Given the description of an element on the screen output the (x, y) to click on. 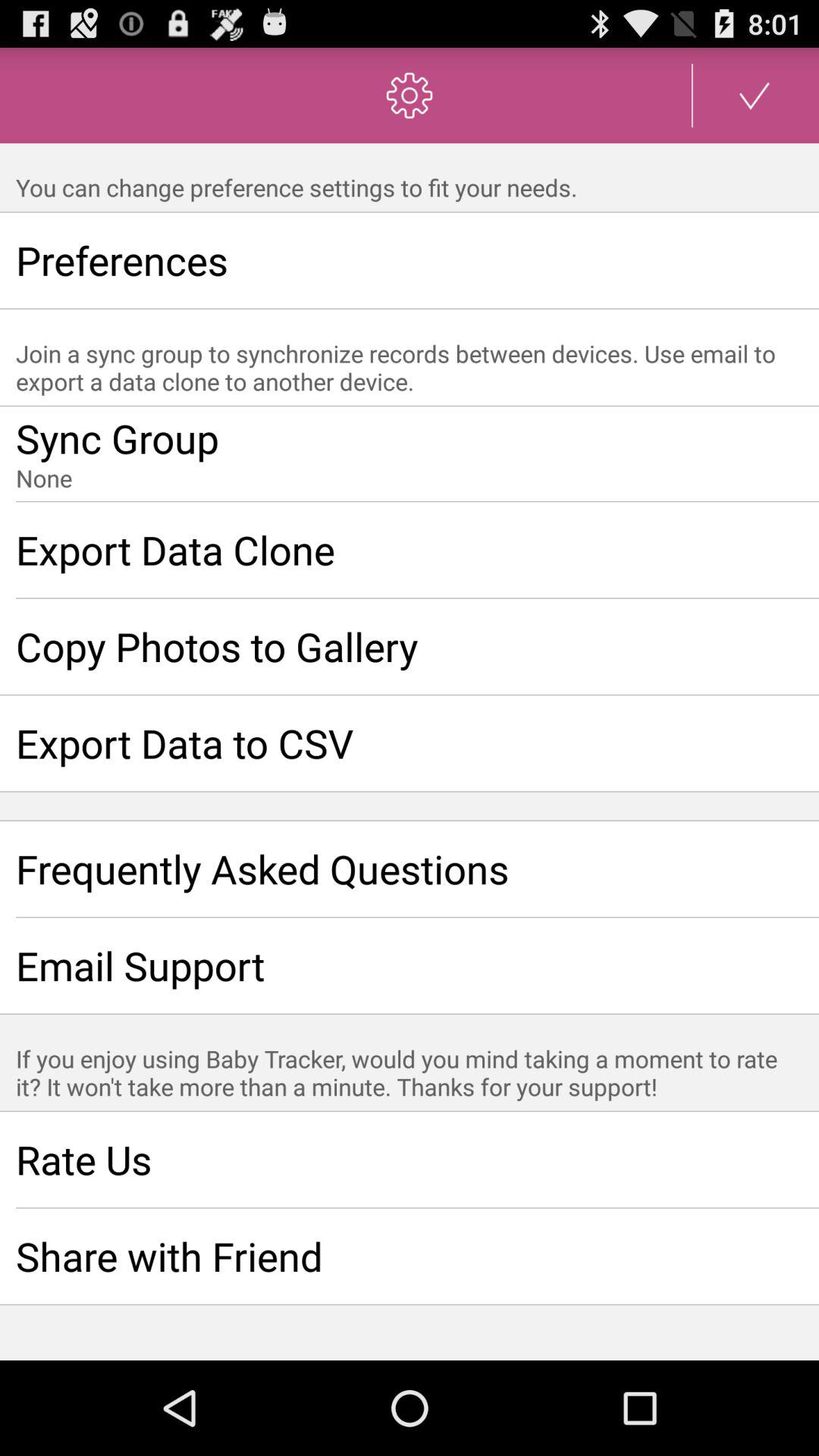
switch save (755, 95)
